Given the description of an element on the screen output the (x, y) to click on. 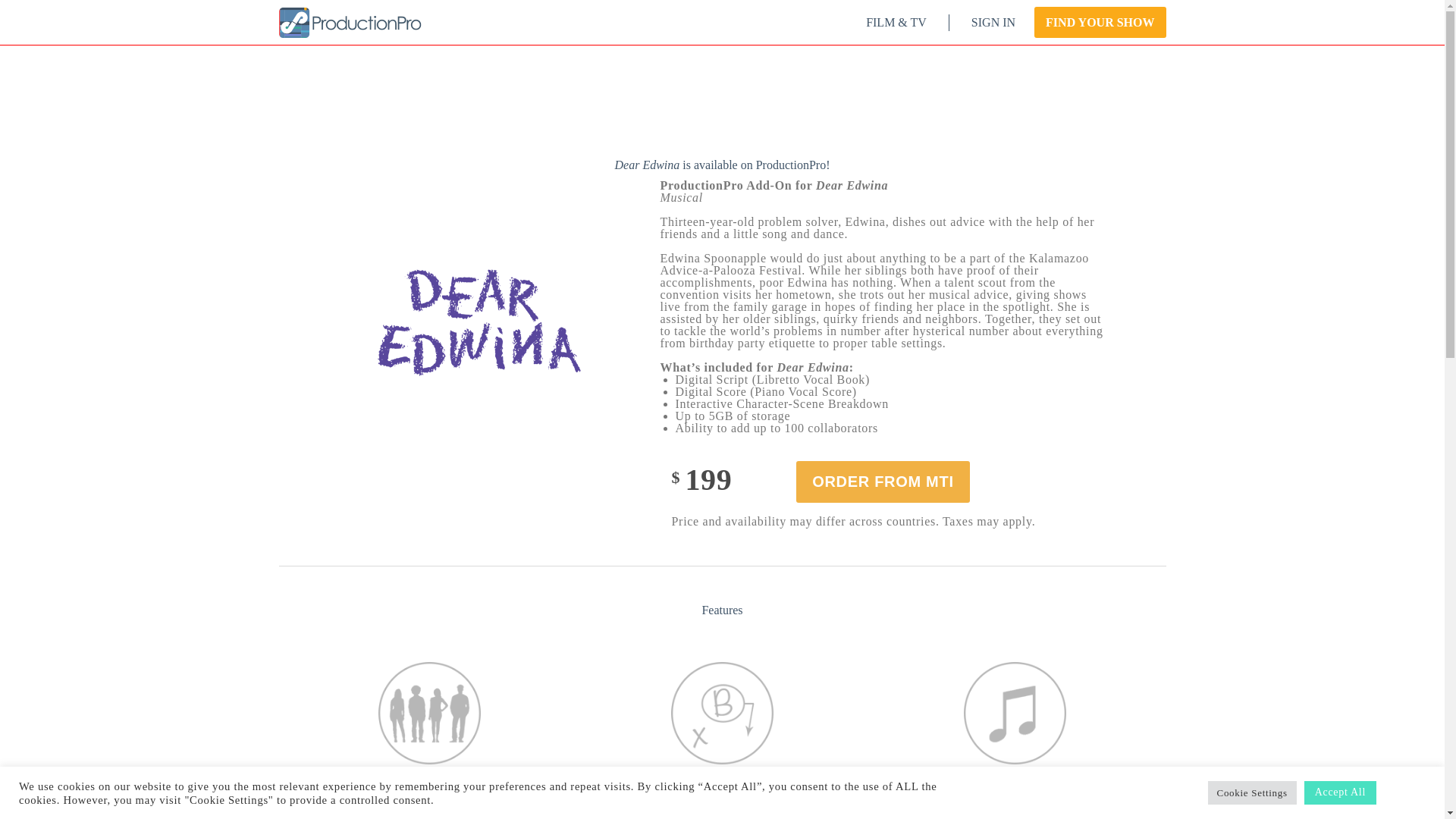
Cookie Settings (1252, 792)
ORDER FROM MTI (882, 481)
Terms (1092, 723)
Accept All (1339, 792)
Support (1092, 746)
Blog (1092, 656)
Team (1092, 678)
FIND YOUR SHOW (1090, 22)
Reference Blocking (722, 791)
Contact Us (1092, 701)
SIGN IN (981, 22)
